Given the description of an element on the screen output the (x, y) to click on. 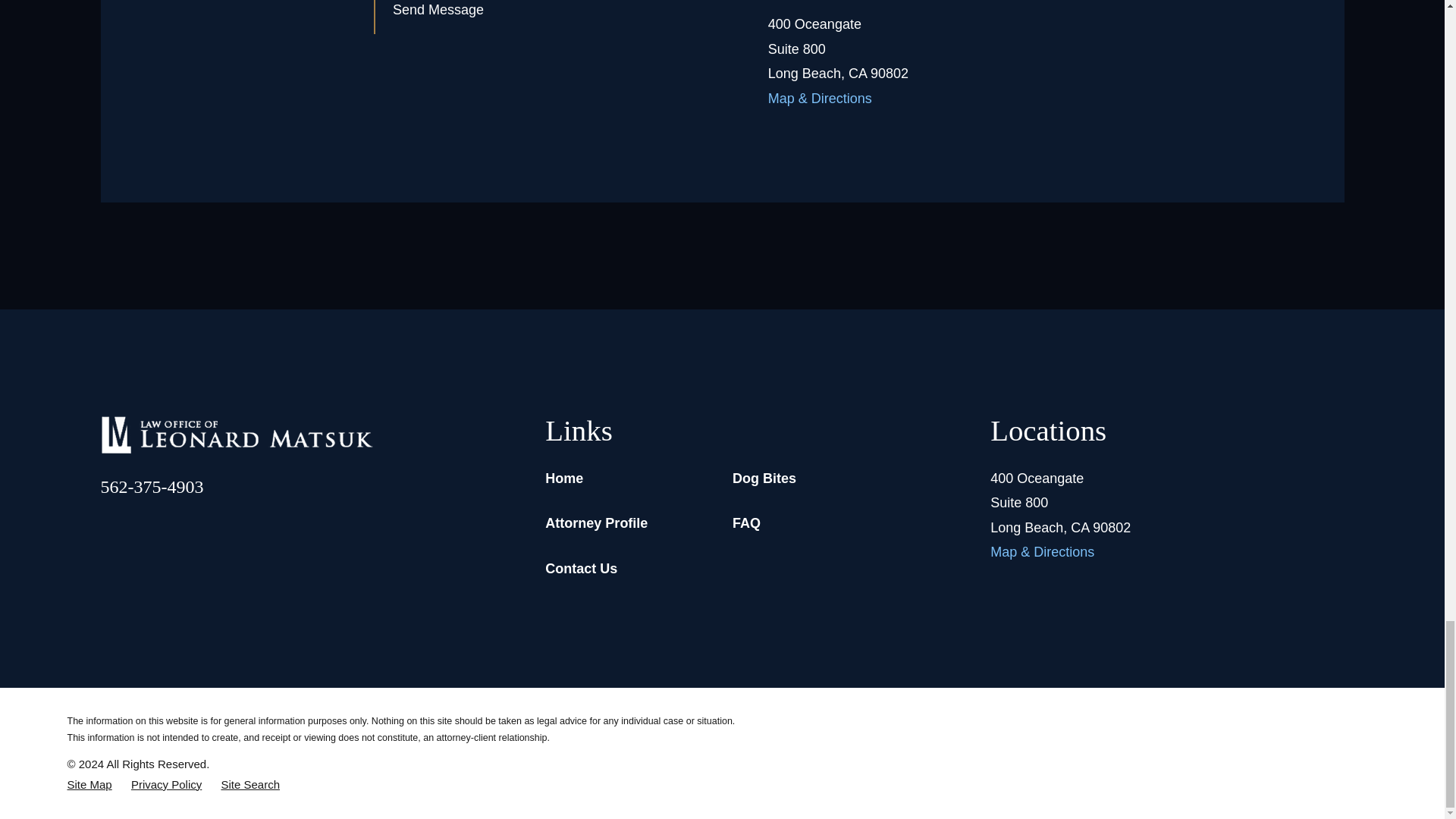
Home (236, 435)
